Given the description of an element on the screen output the (x, y) to click on. 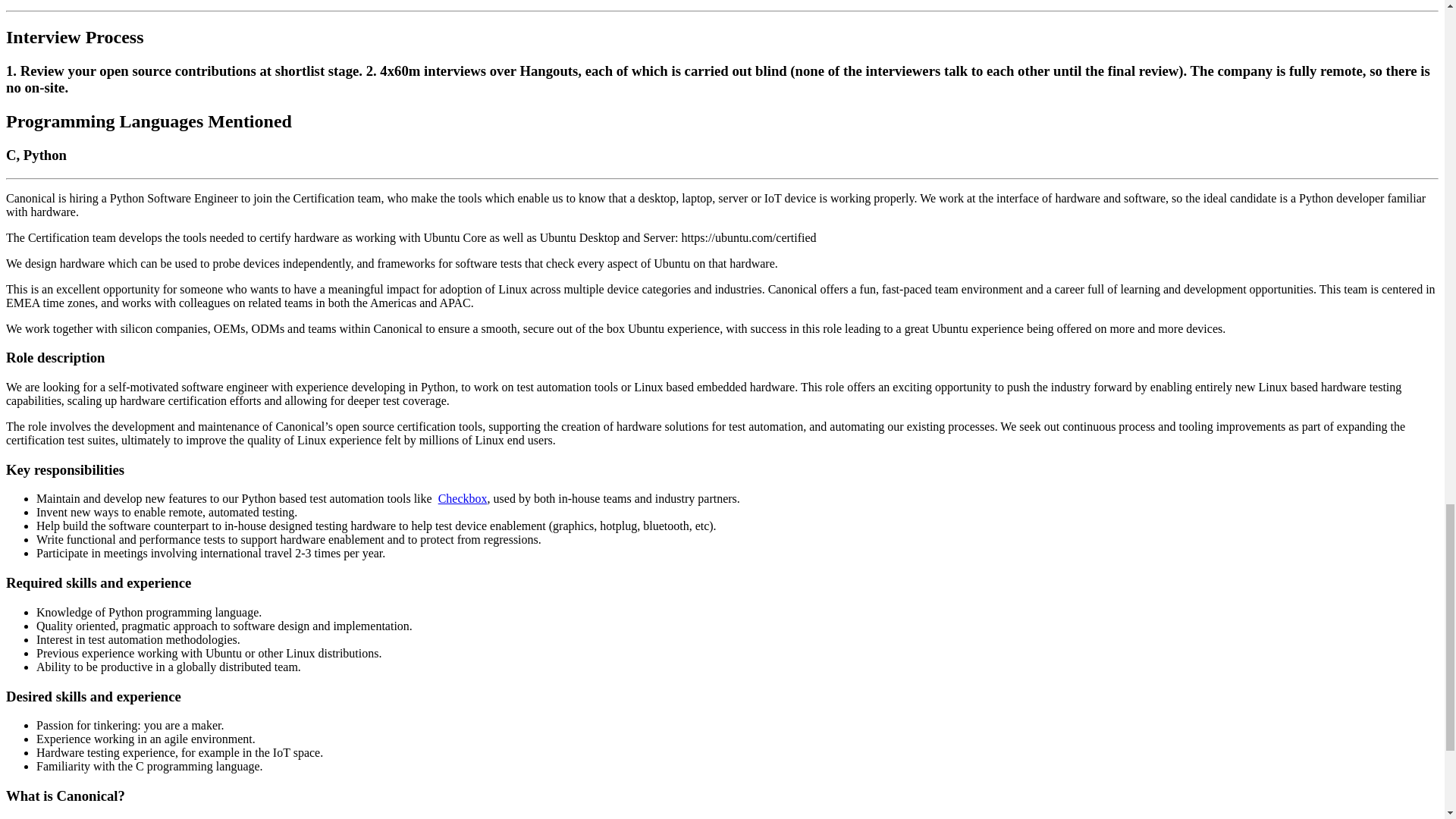
Checkbox (462, 498)
